Given the description of an element on the screen output the (x, y) to click on. 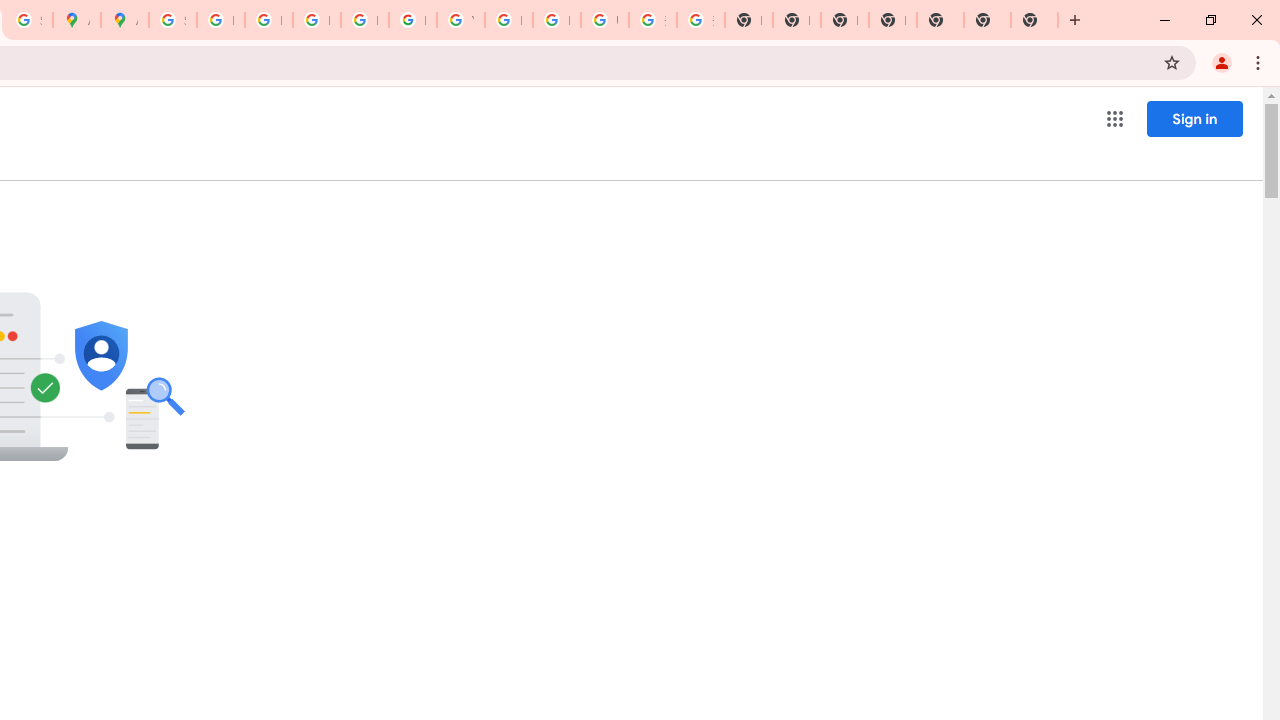
YouTube (460, 20)
New Tab (892, 20)
Privacy Help Center - Policies Help (268, 20)
New Tab (987, 20)
